Given the description of an element on the screen output the (x, y) to click on. 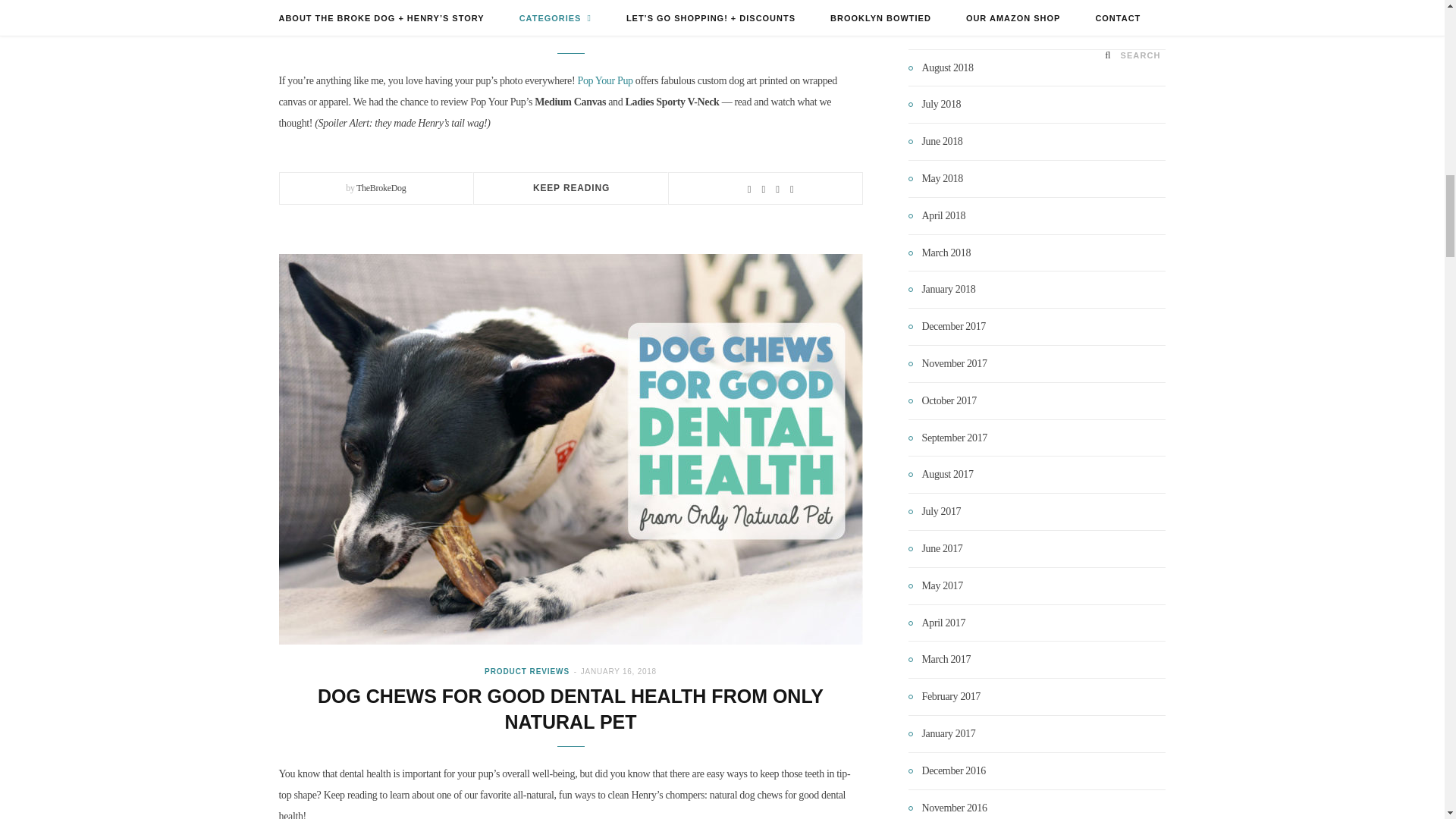
TheBrokeDog (381, 187)
Pop Your Pup (603, 80)
PRODUCT REVIEWS (534, 4)
CUSTOM DOG ART TO WEAR OR HANG BY POP YOUR PUP (569, 28)
MARCH 6, 2018 (619, 4)
Posts by TheBrokeDog (381, 187)
KEEP READING (571, 187)
